Given the description of an element on the screen output the (x, y) to click on. 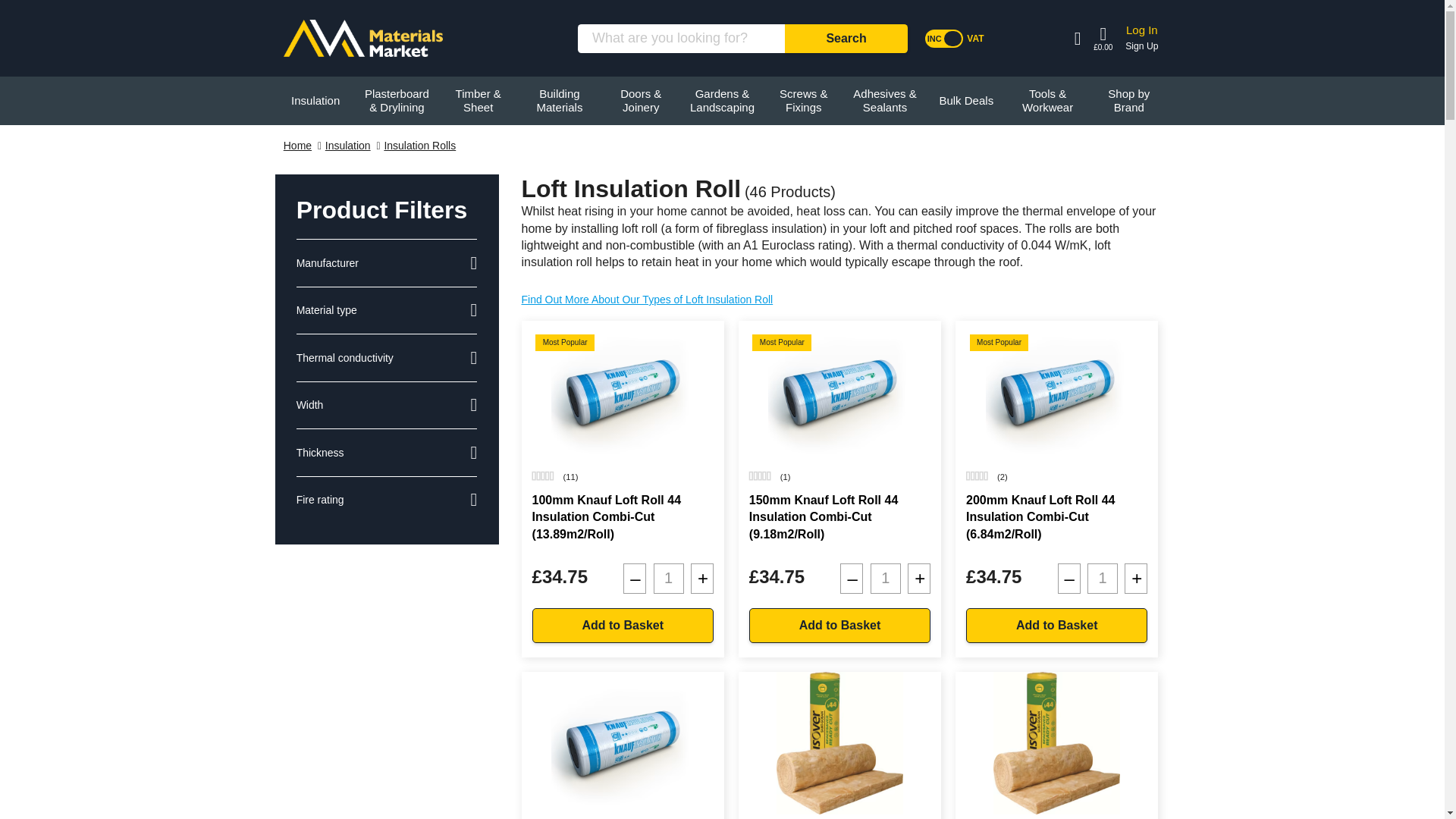
Search (845, 38)
1 (668, 578)
Rating of this product is 5.0 out of 5. (543, 476)
1 (885, 578)
Search (845, 38)
Add to Basket (1056, 625)
Rating of this product is 5.0 out of 5. (977, 476)
Sign Up (1141, 46)
Rating of this product is 5.0 out of 5. (760, 476)
Insulation (315, 100)
